Given the description of an element on the screen output the (x, y) to click on. 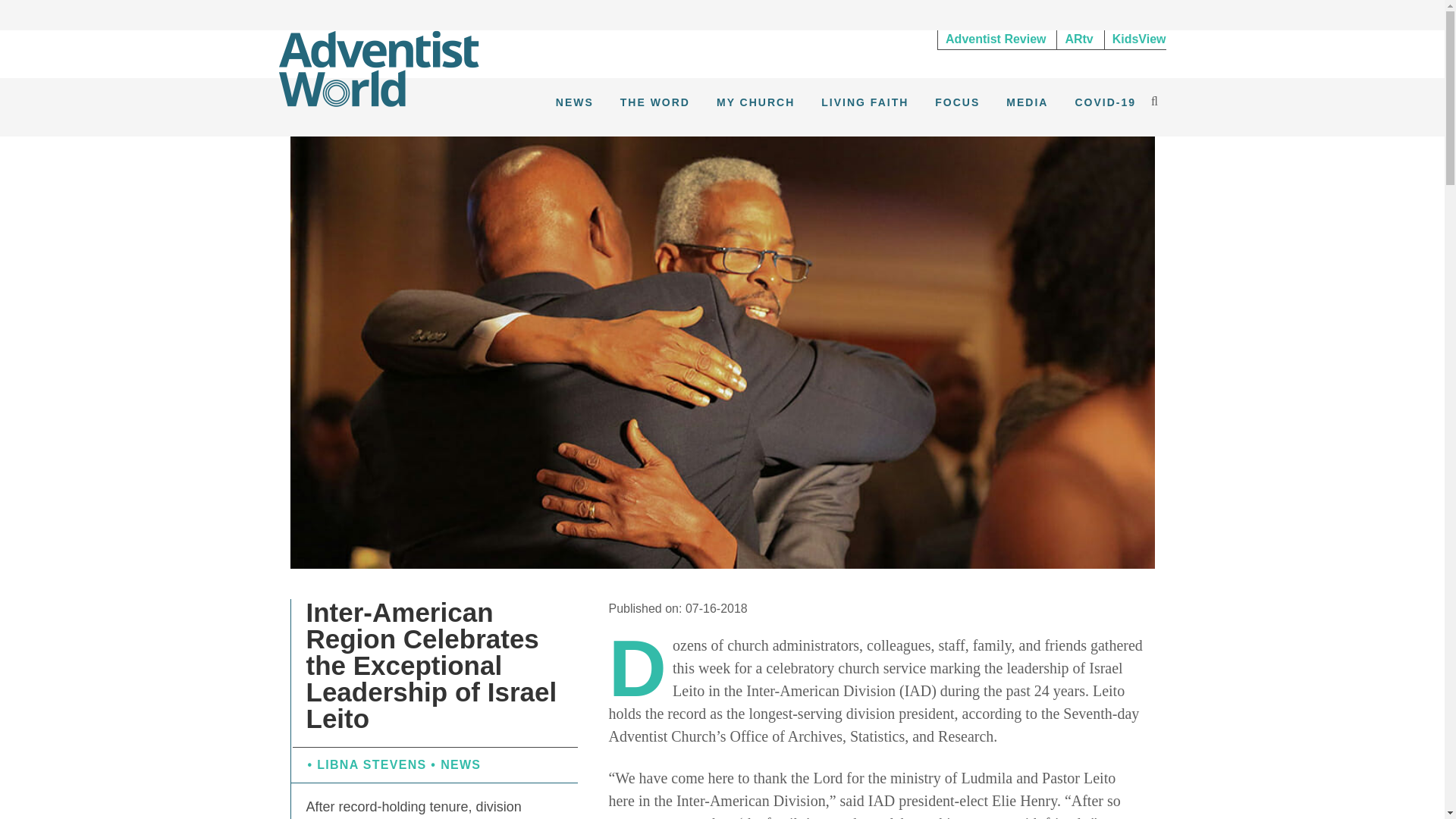
MY CHURCH (755, 101)
THE WORD (654, 101)
Adventist Review (994, 39)
To bind together the Adventist people. (379, 67)
NEWS (574, 101)
ARtv (1078, 39)
COVID-19 (1104, 101)
LIVING FAITH (864, 101)
LIBNA STEVENS (371, 764)
KidsView (1135, 39)
MEDIA (1026, 101)
FOCUS (957, 101)
NEWS (460, 764)
